Given the description of an element on the screen output the (x, y) to click on. 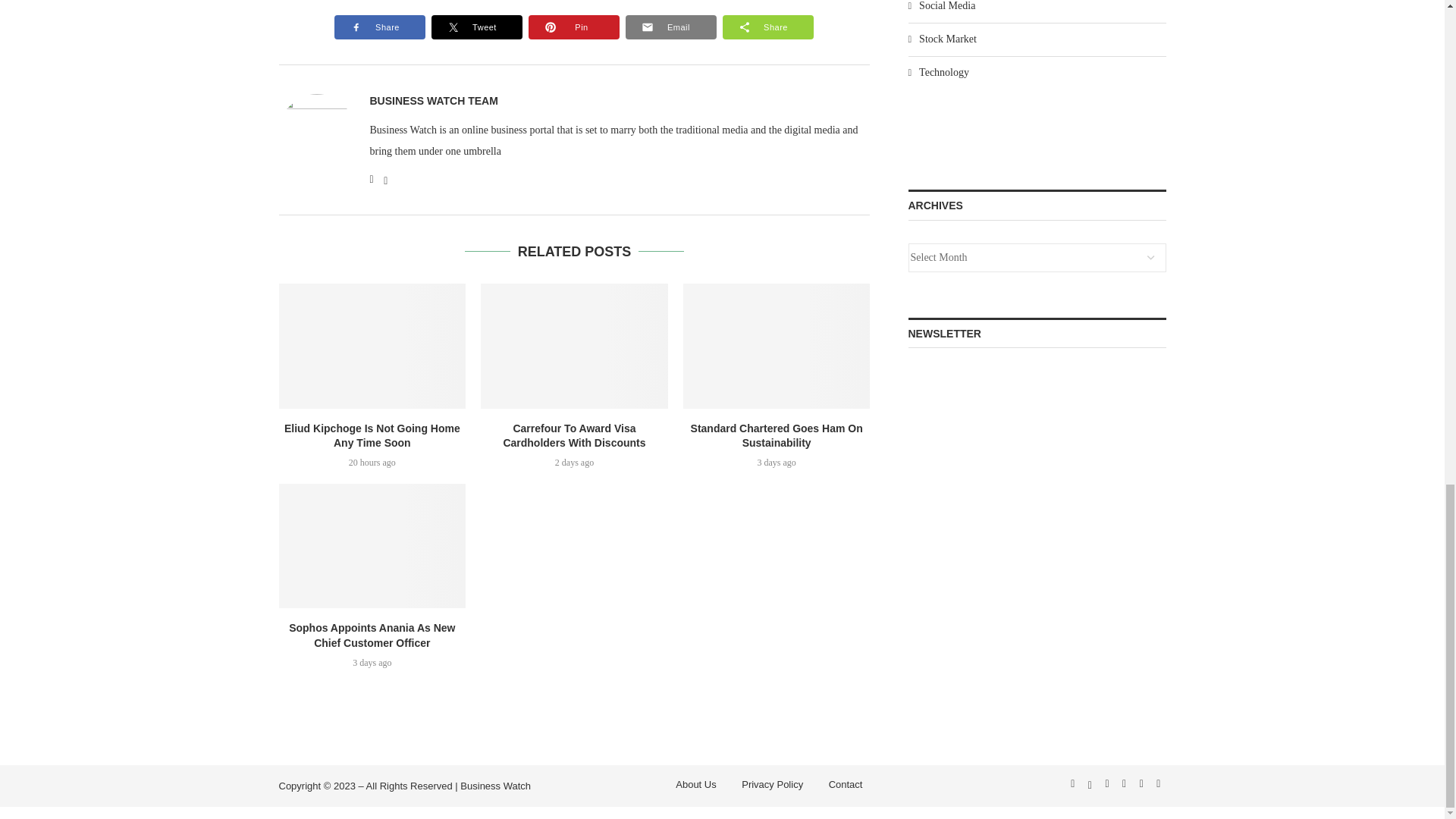
Author Business Watch Team (433, 101)
Carrefour To Award Visa Cardholders With Discounts (574, 345)
Sophos Appoints Anania As New Chief Customer Officer (372, 546)
Eliud Kipchoge Is Not Going Home Any Time Soon (372, 345)
Standard Chartered Goes Ham On Sustainability (776, 345)
